Given the description of an element on the screen output the (x, y) to click on. 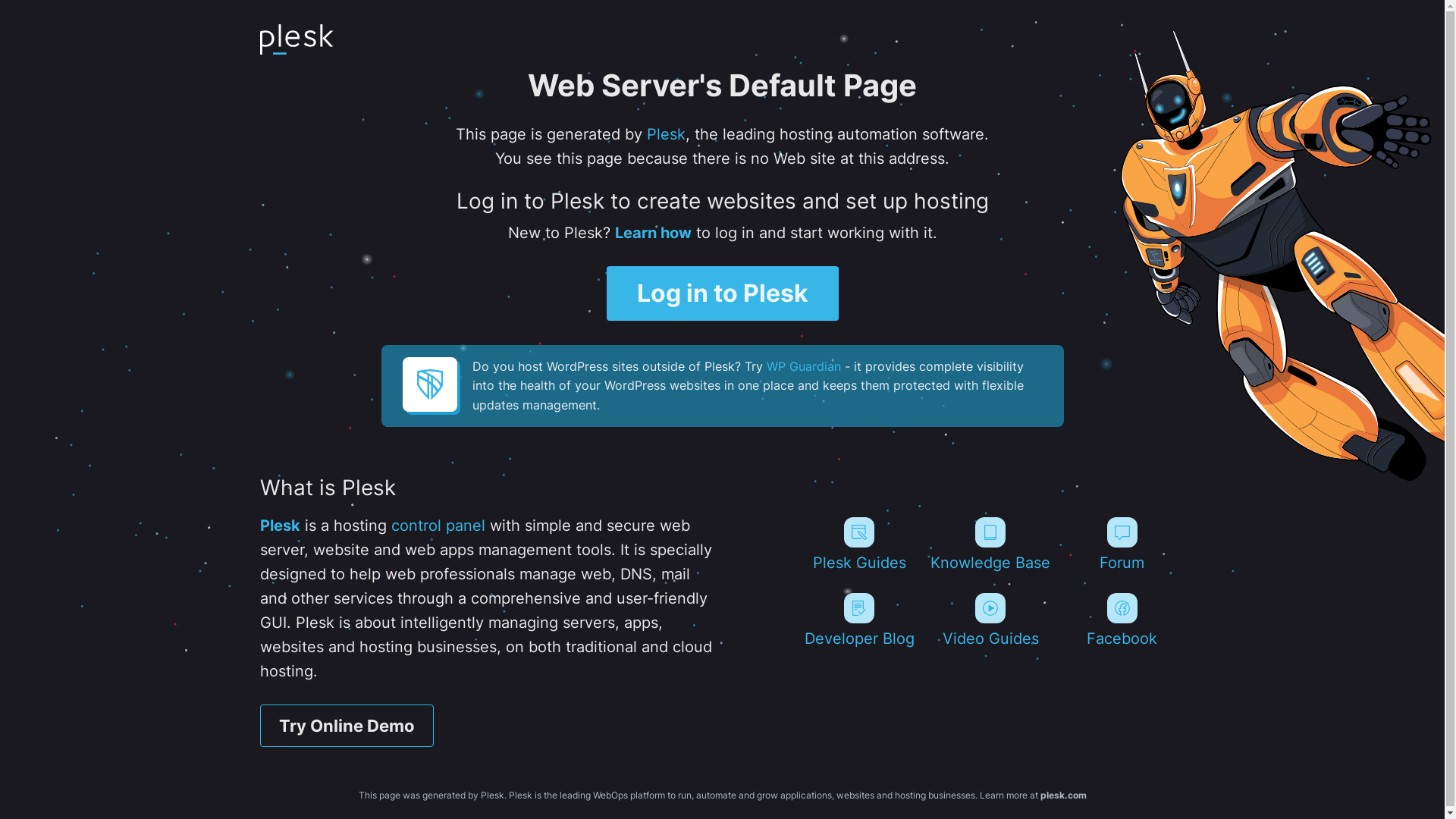
Learn how Element type: text (652, 232)
Forum Element type: text (1121, 544)
plesk.com Element type: text (1063, 794)
Video Guides Element type: text (990, 620)
Plesk Guides Element type: text (858, 544)
Log in to Plesk Element type: text (722, 293)
Plesk Element type: text (279, 525)
Knowledge Base Element type: text (990, 544)
Plesk Element type: text (665, 134)
Facebook Element type: text (1121, 620)
control panel Element type: text (438, 525)
WP Guardian Element type: text (802, 365)
Try Online Demo Element type: text (346, 725)
Developer Blog Element type: text (858, 620)
